Given the description of an element on the screen output the (x, y) to click on. 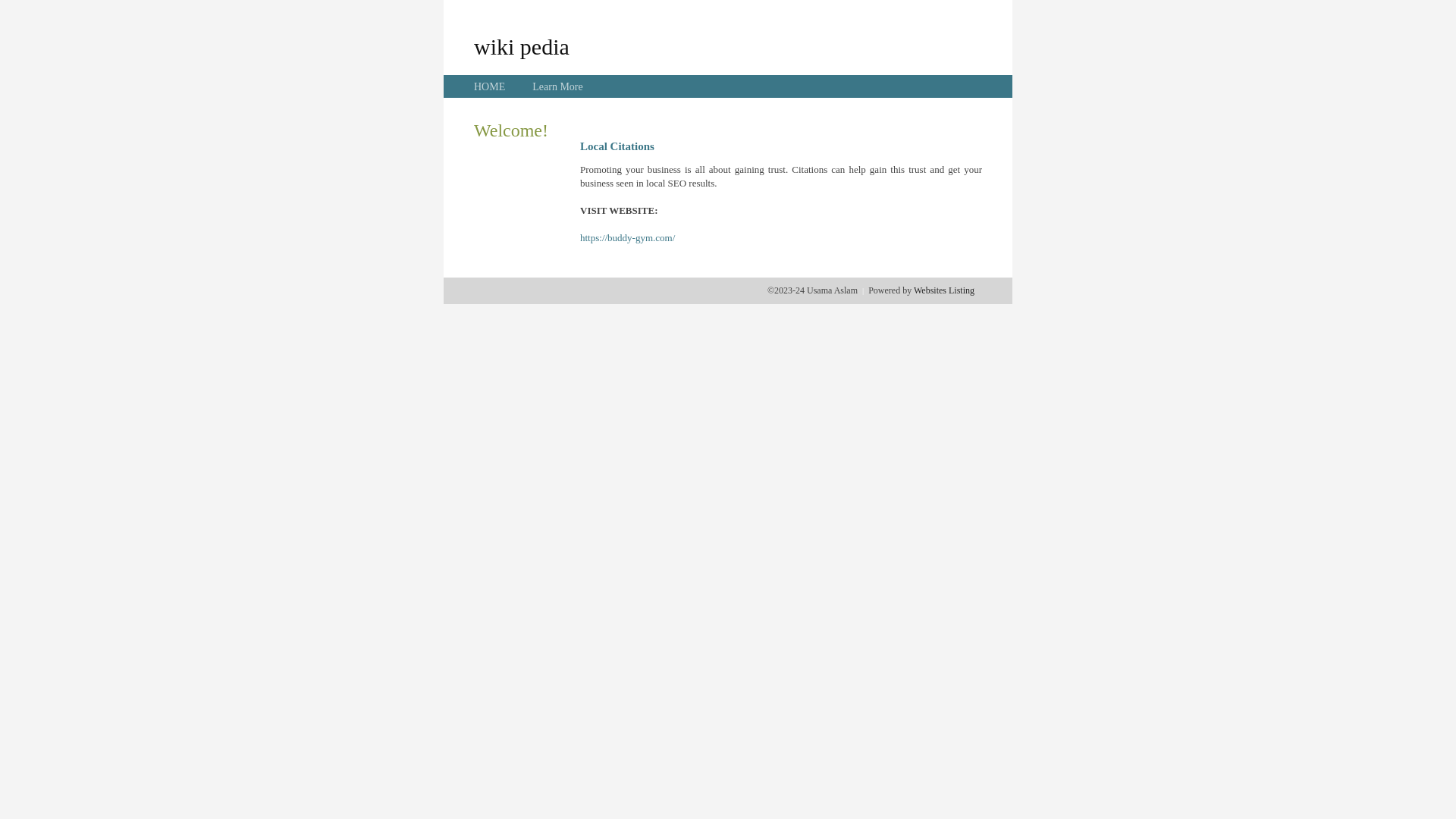
Learn More Element type: text (557, 86)
wiki pedia Element type: text (521, 46)
https://buddy-gym.com/ Element type: text (627, 237)
Websites Listing Element type: text (943, 290)
HOME Element type: text (489, 86)
